Given the description of an element on the screen output the (x, y) to click on. 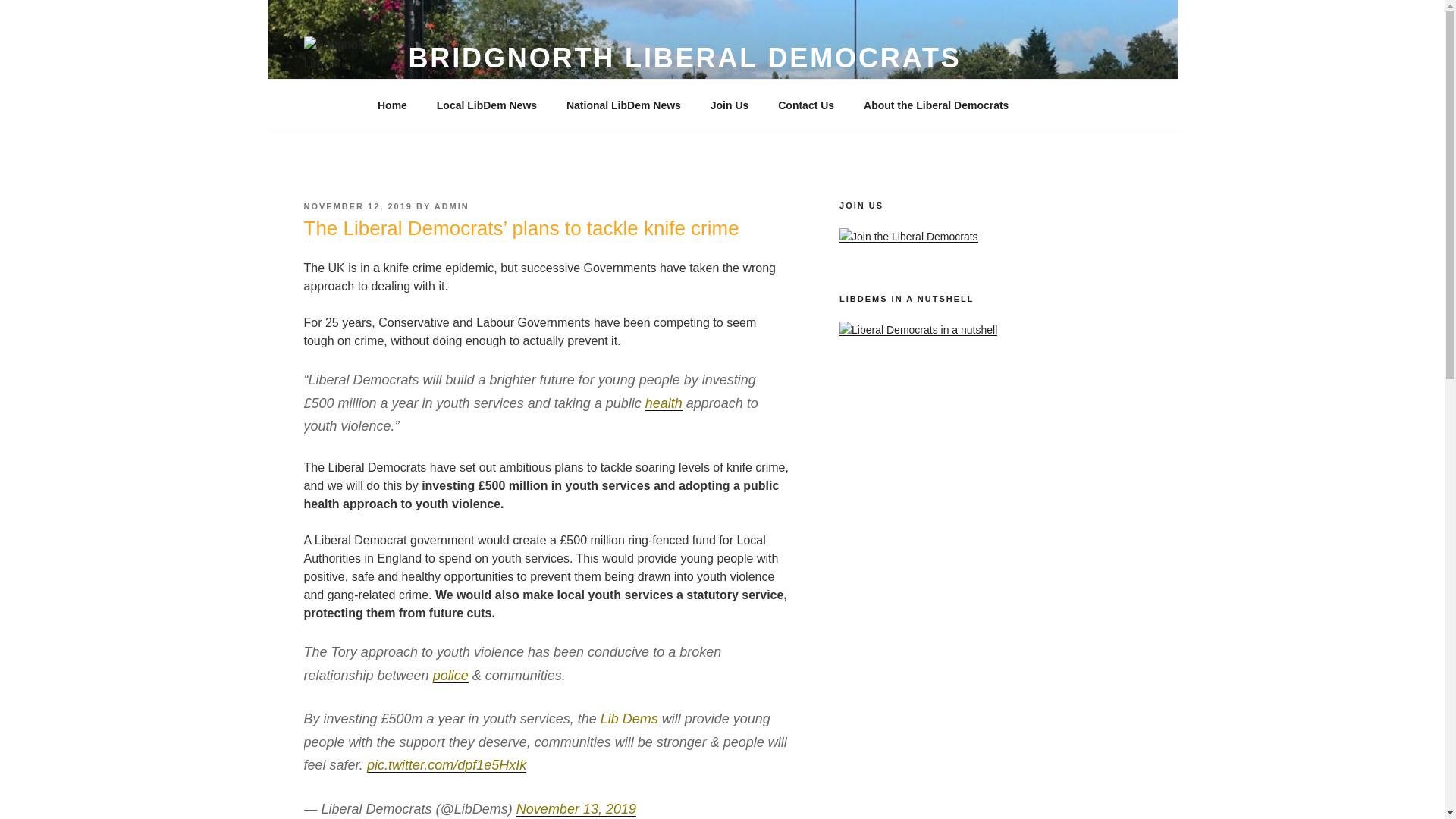
November 13, 2019 (576, 808)
Join Us (729, 105)
Home (392, 105)
Contact Us (806, 105)
health (663, 403)
National LibDem News (623, 105)
About the Liberal Democrats (941, 105)
ADMIN (450, 205)
Local LibDem News (486, 105)
police (450, 674)
